Given the description of an element on the screen output the (x, y) to click on. 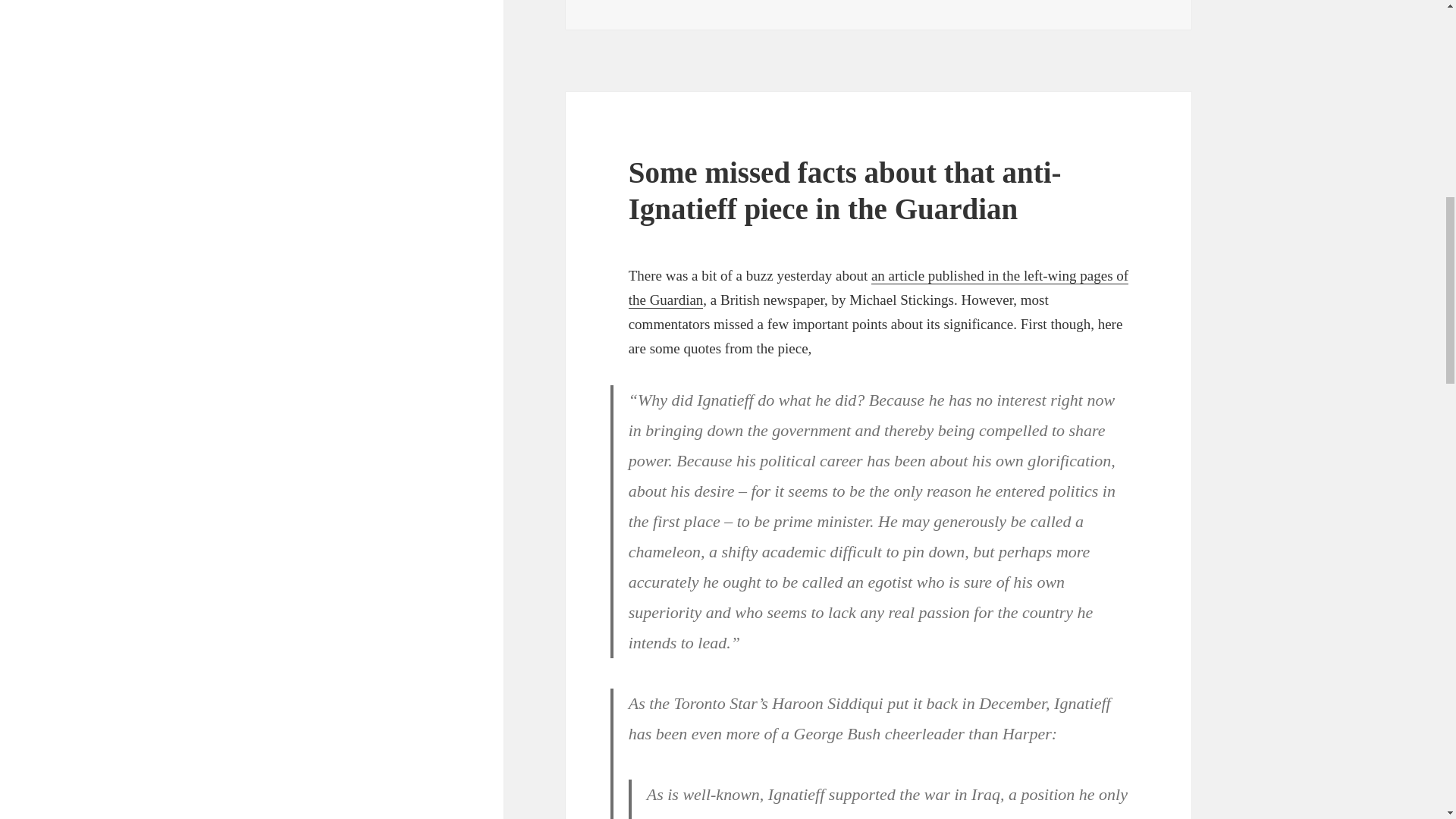
an article published in the left-wing pages of the Guardian (878, 287)
